Given the description of an element on the screen output the (x, y) to click on. 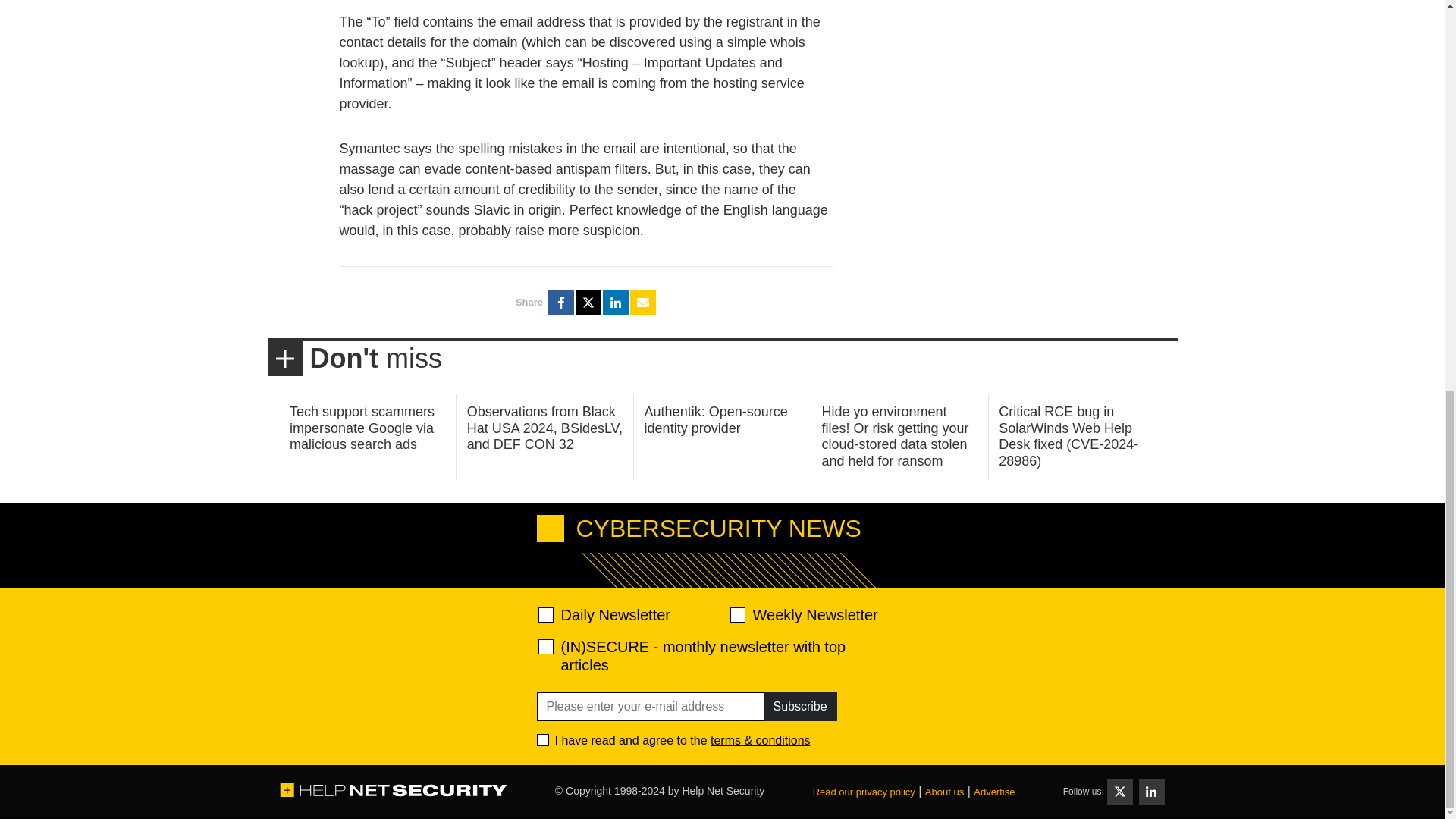
Subscribe (798, 706)
Authentik: Open-source identity provider (716, 419)
Share DDoS threat spam targets domain owners on Facebook (560, 302)
1 (542, 739)
Share DDoS threat spam targets domain owners via E-mail (643, 302)
28abe5d9ef (545, 646)
Share DDoS threat spam targets domain owners on LinkedIn (615, 302)
